Given the description of an element on the screen output the (x, y) to click on. 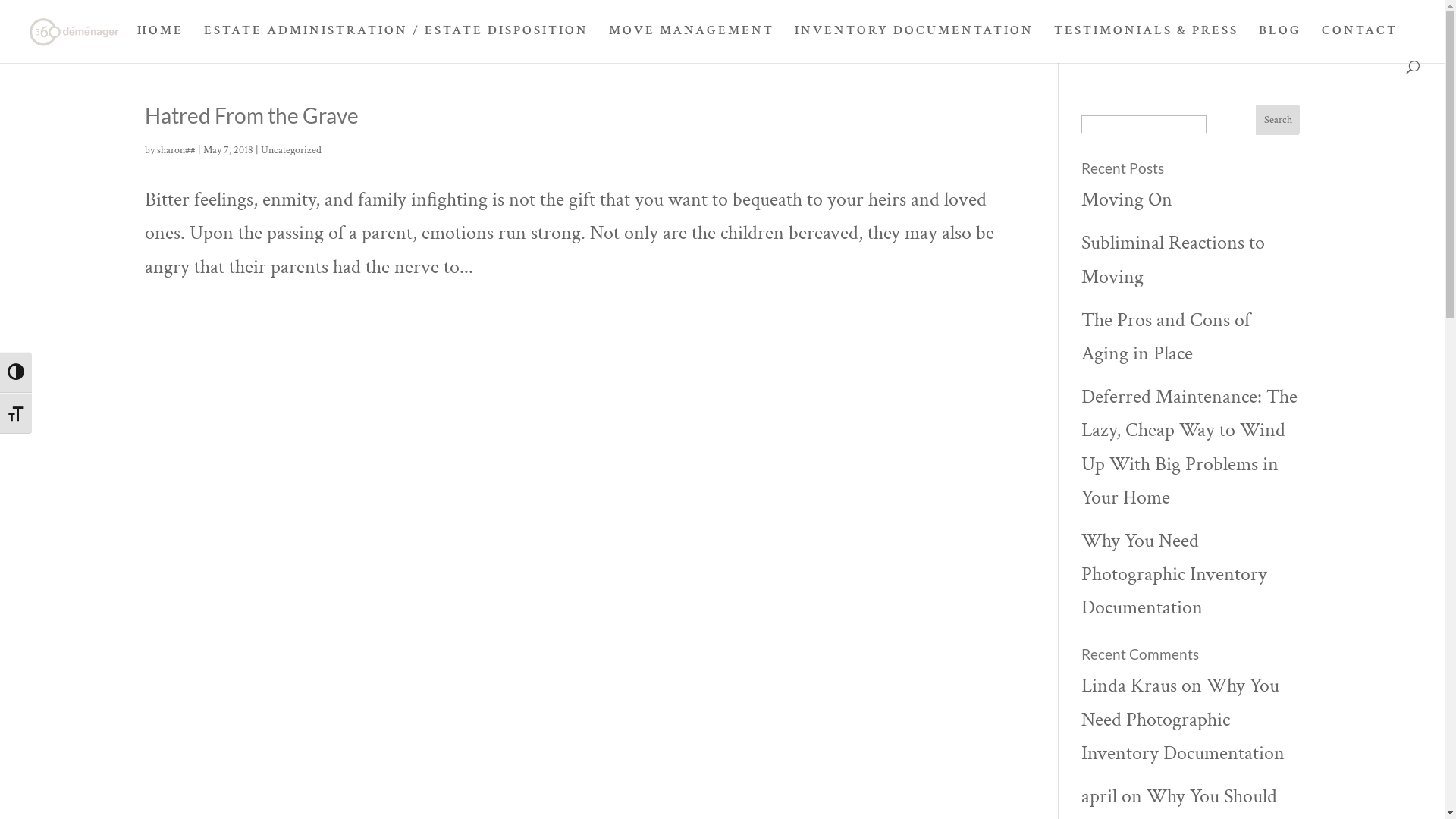
TESTIMONIALS & PRESS Element type: text (1146, 42)
Uncategorized Element type: text (290, 149)
BLOG Element type: text (1279, 42)
Why You Need Photographic Inventory Documentation  Element type: text (1174, 573)
Moving On Element type: text (1126, 199)
CONTACT Element type: text (1359, 42)
HOME Element type: text (160, 42)
Why You Need Photographic Inventory Documentation  Element type: text (1185, 718)
Toggle High Contrast Element type: text (15, 371)
Search Element type: text (1277, 119)
sharon## Element type: text (175, 149)
ESTATE ADMINISTRATION / ESTATE DISPOSITION Element type: text (395, 42)
Subliminal Reactions to Moving Element type: text (1172, 258)
The Pros and Cons of Aging in Place Element type: text (1165, 336)
Hatred From the Grave Element type: text (250, 115)
MOVE MANAGEMENT Element type: text (691, 42)
Toggle Font size Element type: text (15, 412)
INVENTORY DOCUMENTATION Element type: text (913, 42)
